Given the description of an element on the screen output the (x, y) to click on. 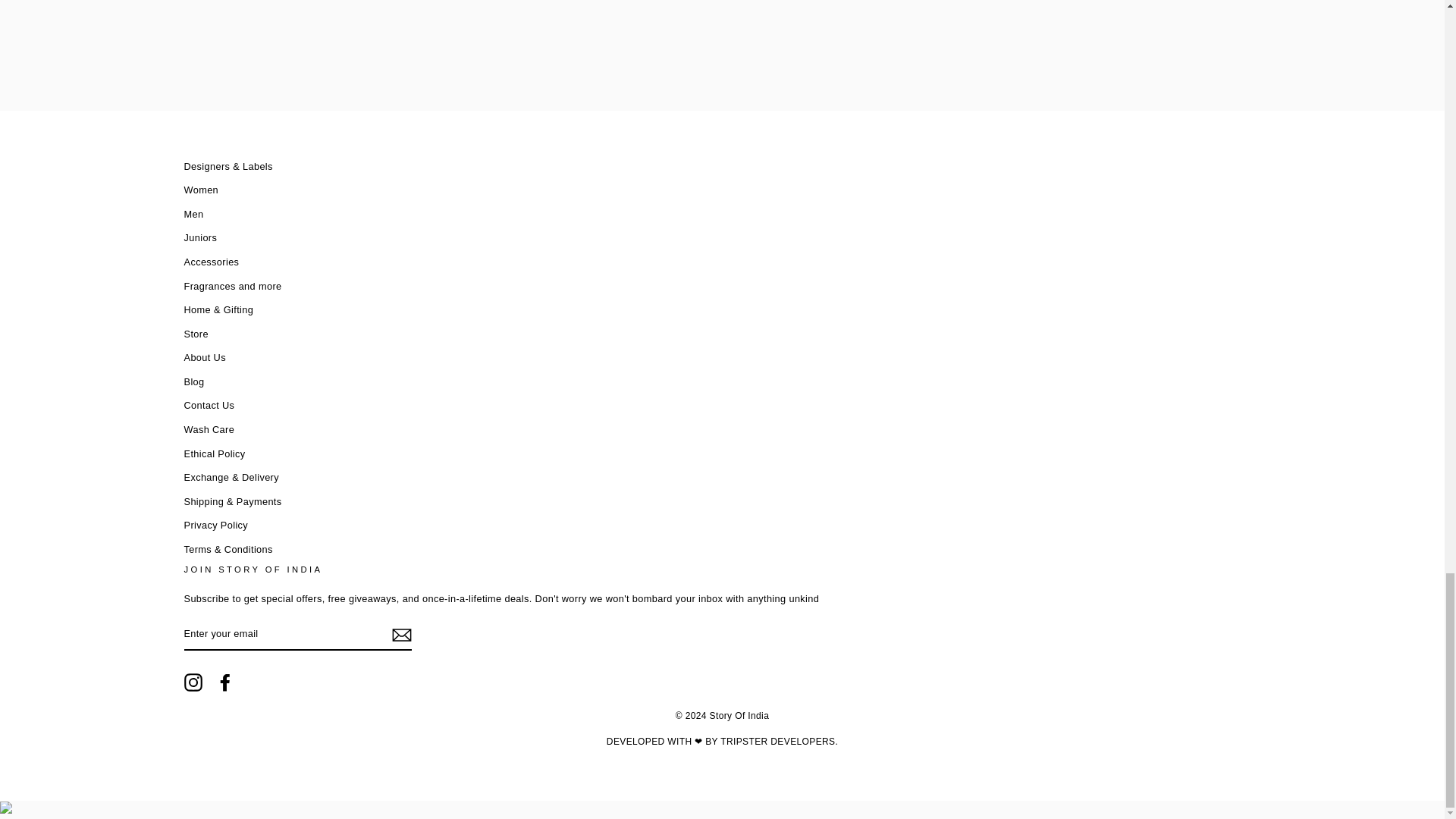
Story Of India on Facebook (224, 682)
Story Of India on Instagram (192, 682)
Back to the top (5, 809)
